Given the description of an element on the screen output the (x, y) to click on. 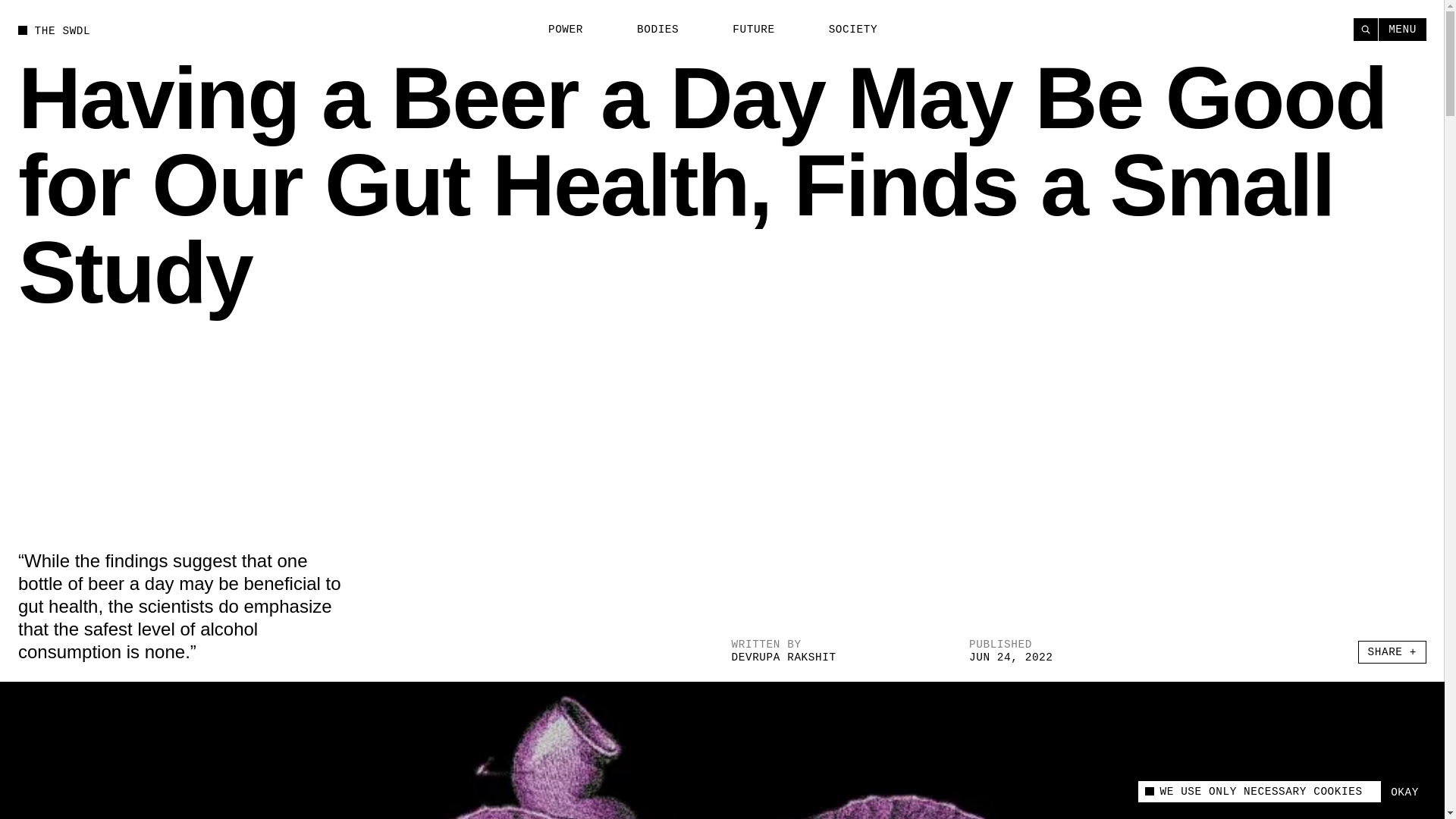
THE SWDL (53, 29)
SOCIETY (843, 29)
POWER (557, 29)
DEVRUPA RAKSHIT (782, 657)
MENU (1402, 29)
BODIES (649, 29)
FUTURE (744, 29)
OKAY (1404, 791)
WE USE ONLY NECESSARY COOKIES (1259, 791)
